Given the description of an element on the screen output the (x, y) to click on. 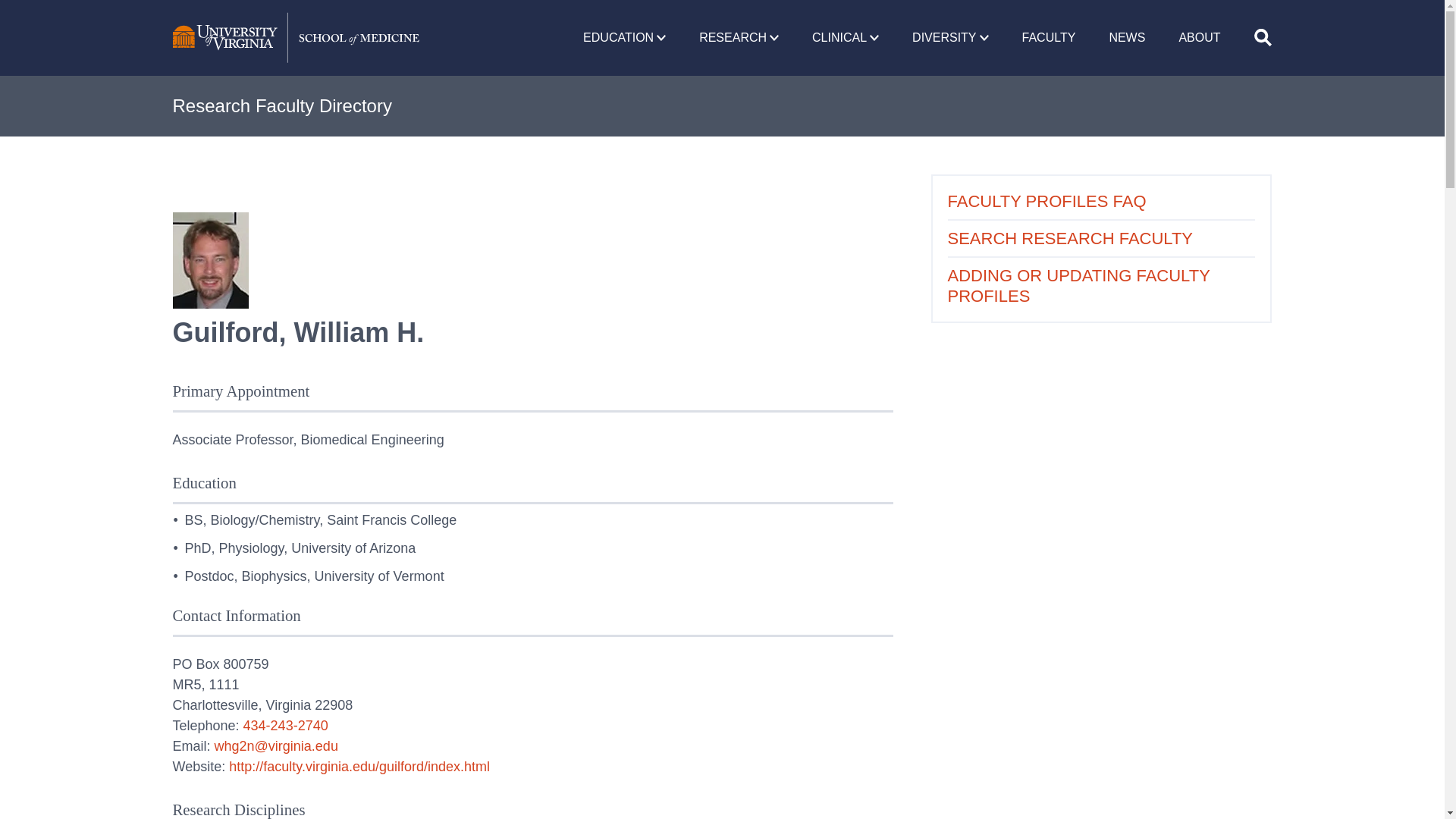
RESEARCH (738, 37)
EDUCATION (624, 37)
